Given the description of an element on the screen output the (x, y) to click on. 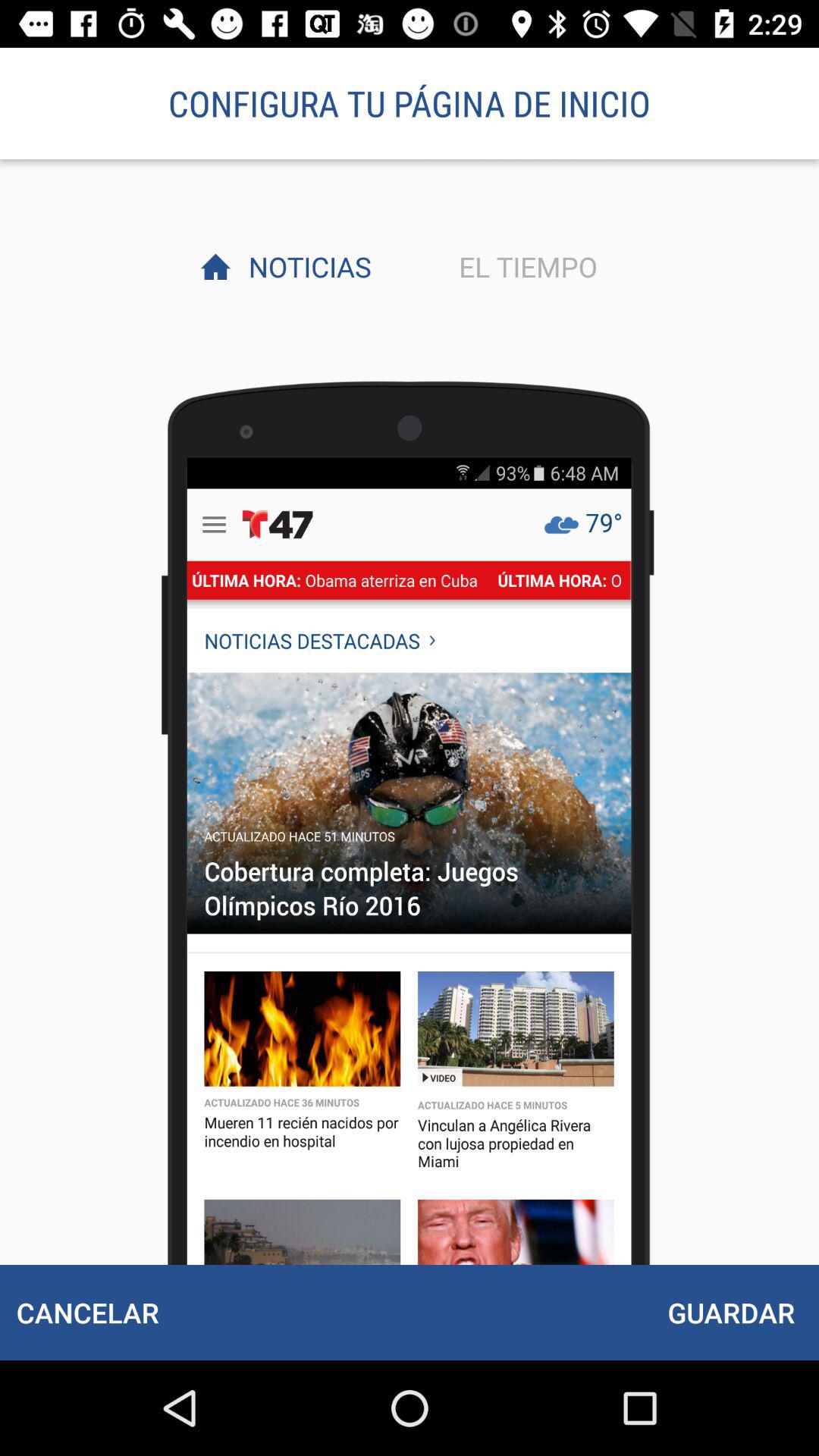
turn on the cancelar at the bottom left corner (87, 1312)
